Given the description of an element on the screen output the (x, y) to click on. 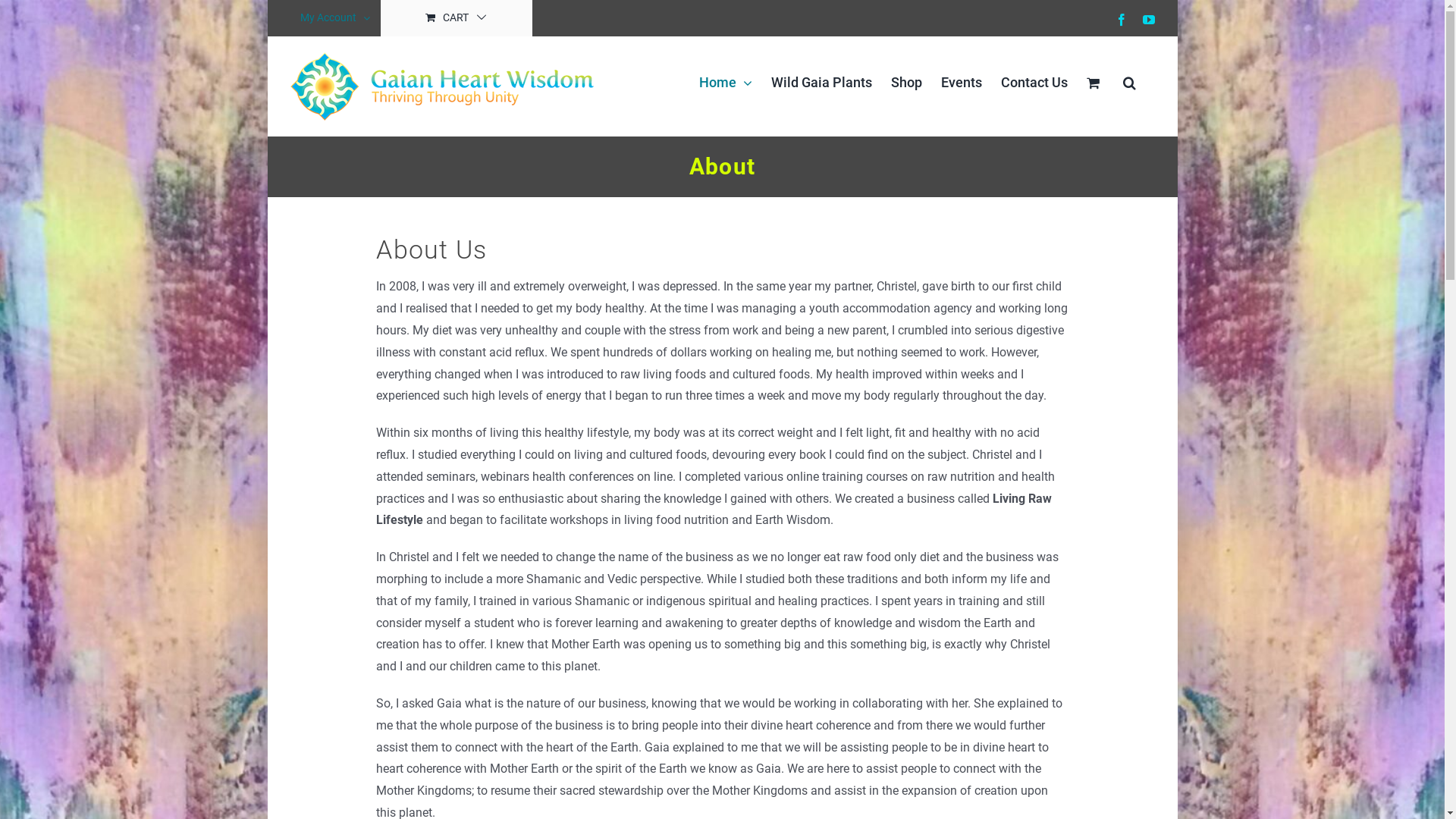
Home Element type: text (725, 82)
Events Element type: text (960, 82)
Wild Gaia Plants Element type: text (820, 82)
CART Element type: text (456, 18)
My Account Element type: text (334, 18)
Log In Element type: text (396, 179)
Shop Element type: text (905, 82)
Facebook Element type: text (1120, 19)
Contact Us Element type: text (1034, 82)
YouTube Element type: text (1148, 19)
Search Element type: hover (1128, 82)
